Given the description of an element on the screen output the (x, y) to click on. 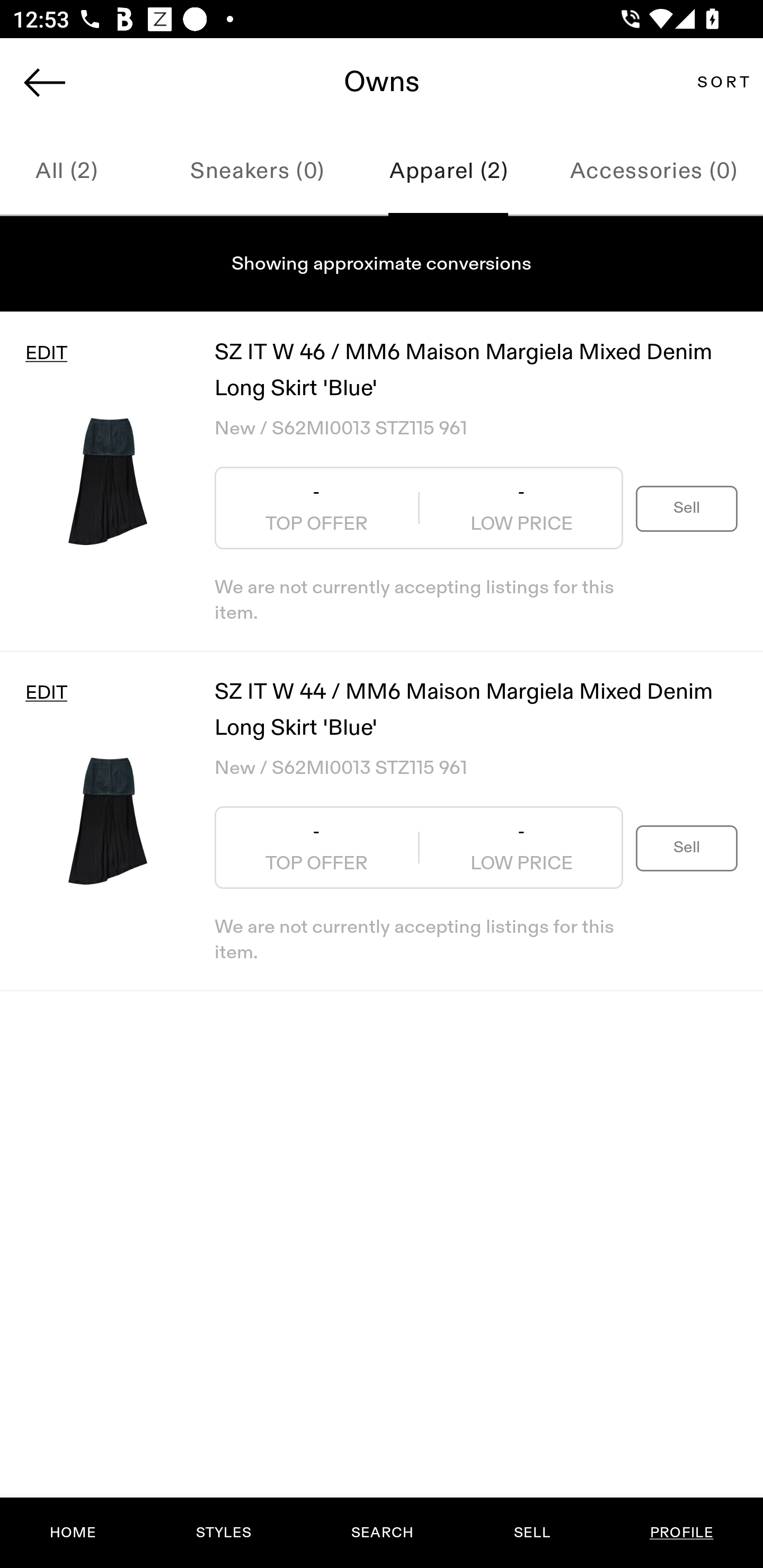
SORT (722, 81)
All (2) (80, 171)
Sneakers (0) (256, 171)
Accessories (0) (653, 171)
EDIT (46, 352)
- - TOP OFFER LOW PRICE (418, 507)
Sell (686, 507)
EDIT (46, 692)
- - TOP OFFER LOW PRICE (418, 847)
Sell (686, 847)
HOME (72, 1532)
STYLES (222, 1532)
SEARCH (381, 1532)
SELL (531, 1532)
PROFILE (681, 1532)
